Given the description of an element on the screen output the (x, y) to click on. 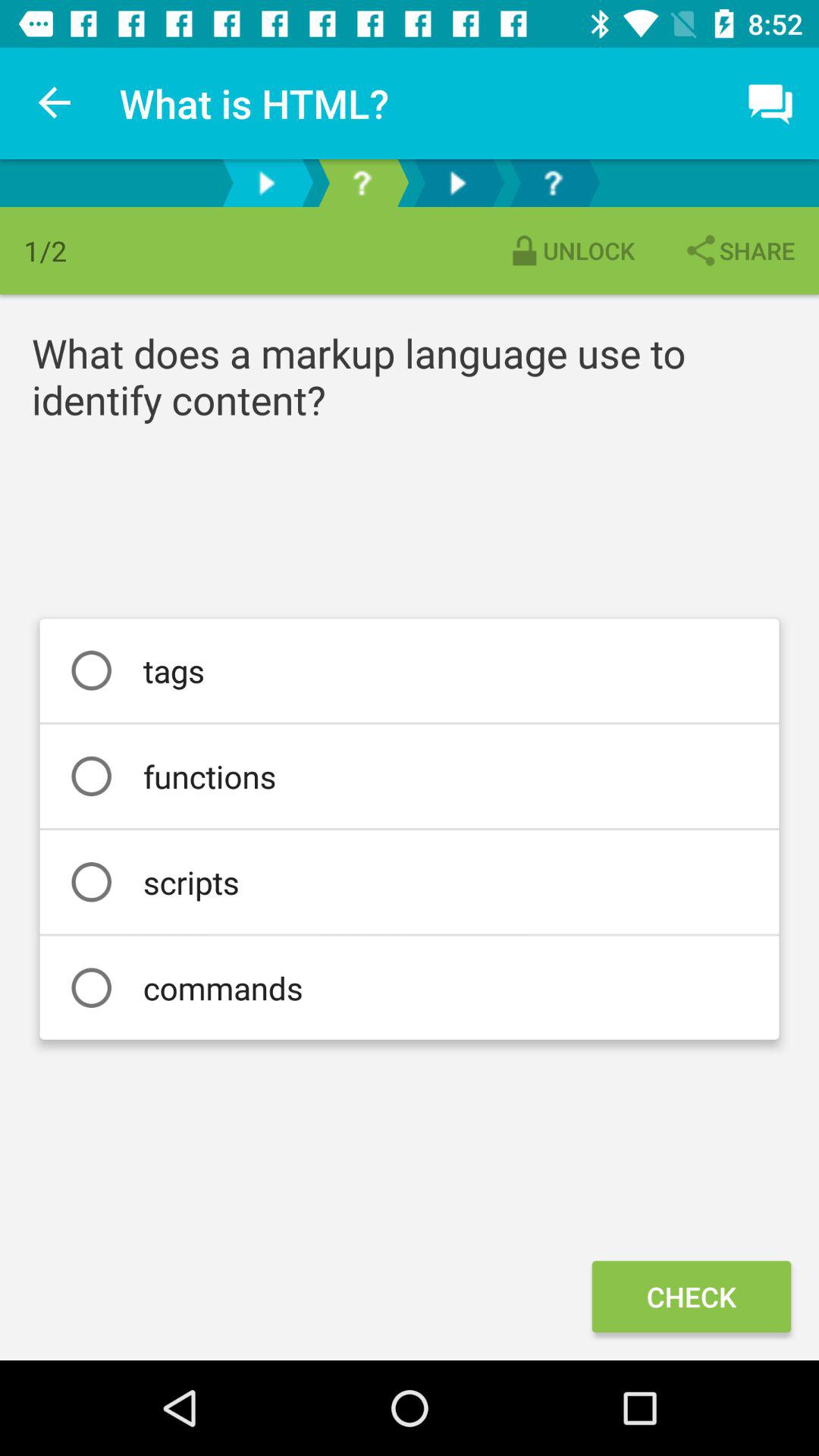
previous question (265, 183)
